Given the description of an element on the screen output the (x, y) to click on. 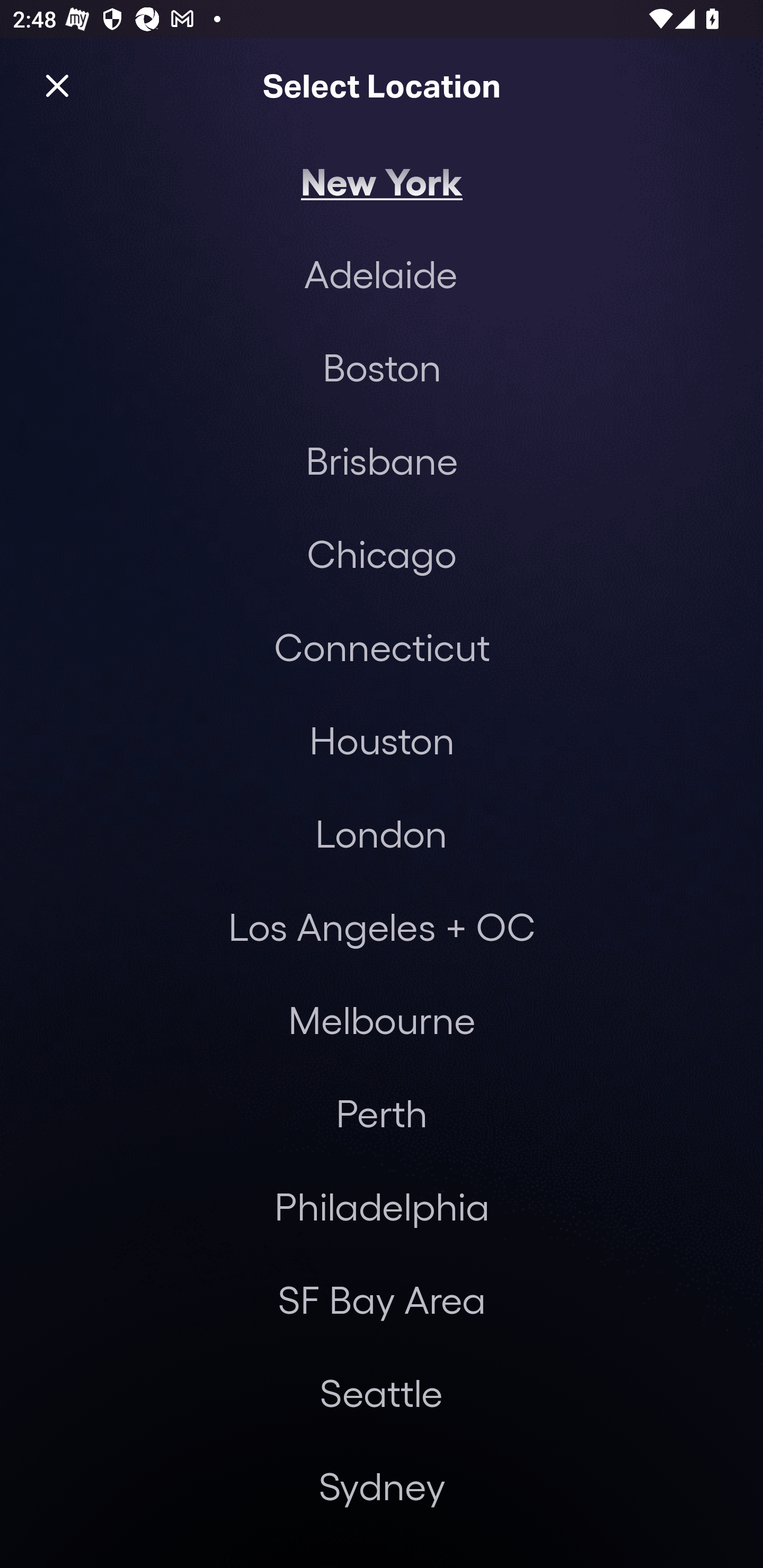
Close (57, 85)
New York (381, 180)
Adelaide (380, 273)
Boston (381, 366)
Brisbane (381, 459)
Chicago (381, 553)
Connecticut (381, 646)
Houston (381, 740)
London (380, 833)
Los Angeles + OC (381, 926)
Melbourne (381, 1019)
Perth (381, 1113)
Philadelphia (381, 1206)
SF Bay Area (381, 1298)
Seattle (380, 1392)
Sydney (381, 1485)
